Given the description of an element on the screen output the (x, y) to click on. 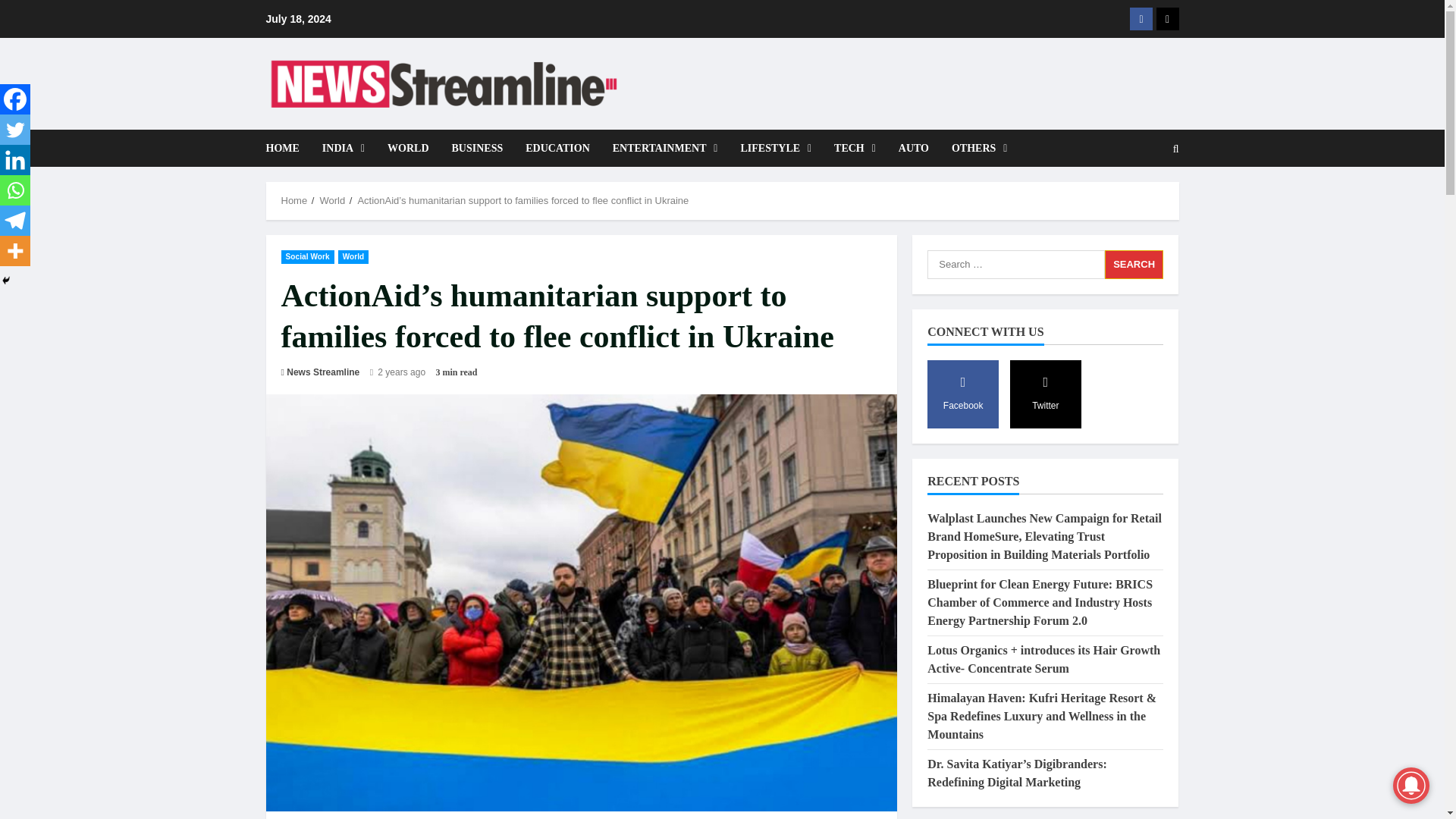
WORLD (407, 148)
EDUCATION (557, 148)
Search (1134, 264)
Search (1139, 199)
Home (294, 200)
BUSINESS (478, 148)
Facebook (15, 99)
ENTERTAINMENT (665, 148)
Twitter (15, 129)
Twitter (1166, 18)
Search (1134, 264)
AUTO (913, 148)
INDIA (343, 148)
LIFESTYLE (775, 148)
